Given the description of an element on the screen output the (x, y) to click on. 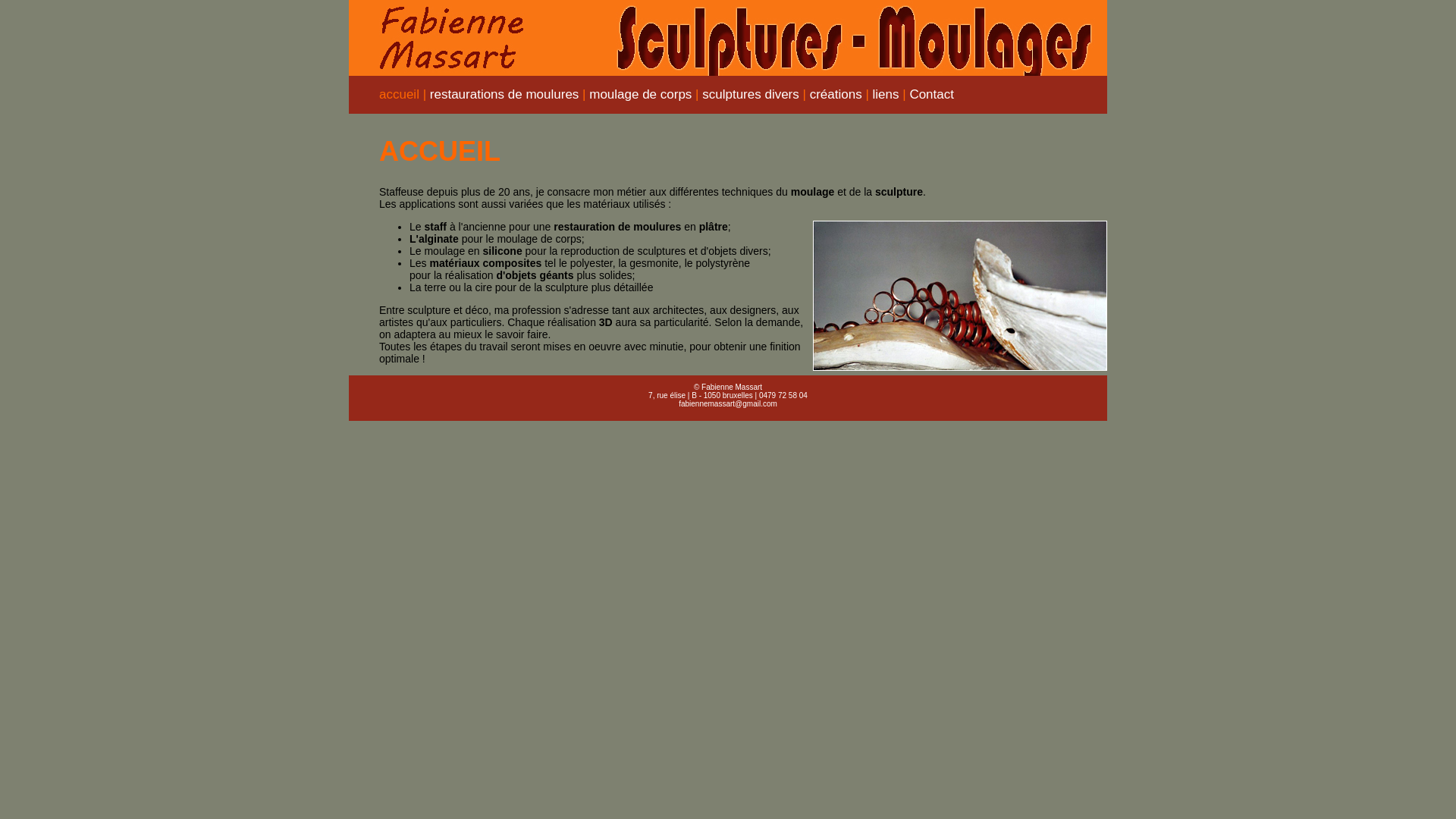
liens Element type: text (885, 94)
restaurations de moulures Element type: text (504, 94)
Contact Element type: text (931, 94)
sculptures divers Element type: text (750, 94)
moulage de corps Element type: text (640, 94)
assemblage soudure Element type: hover (959, 295)
accueil Element type: text (399, 94)
